Given the description of an element on the screen output the (x, y) to click on. 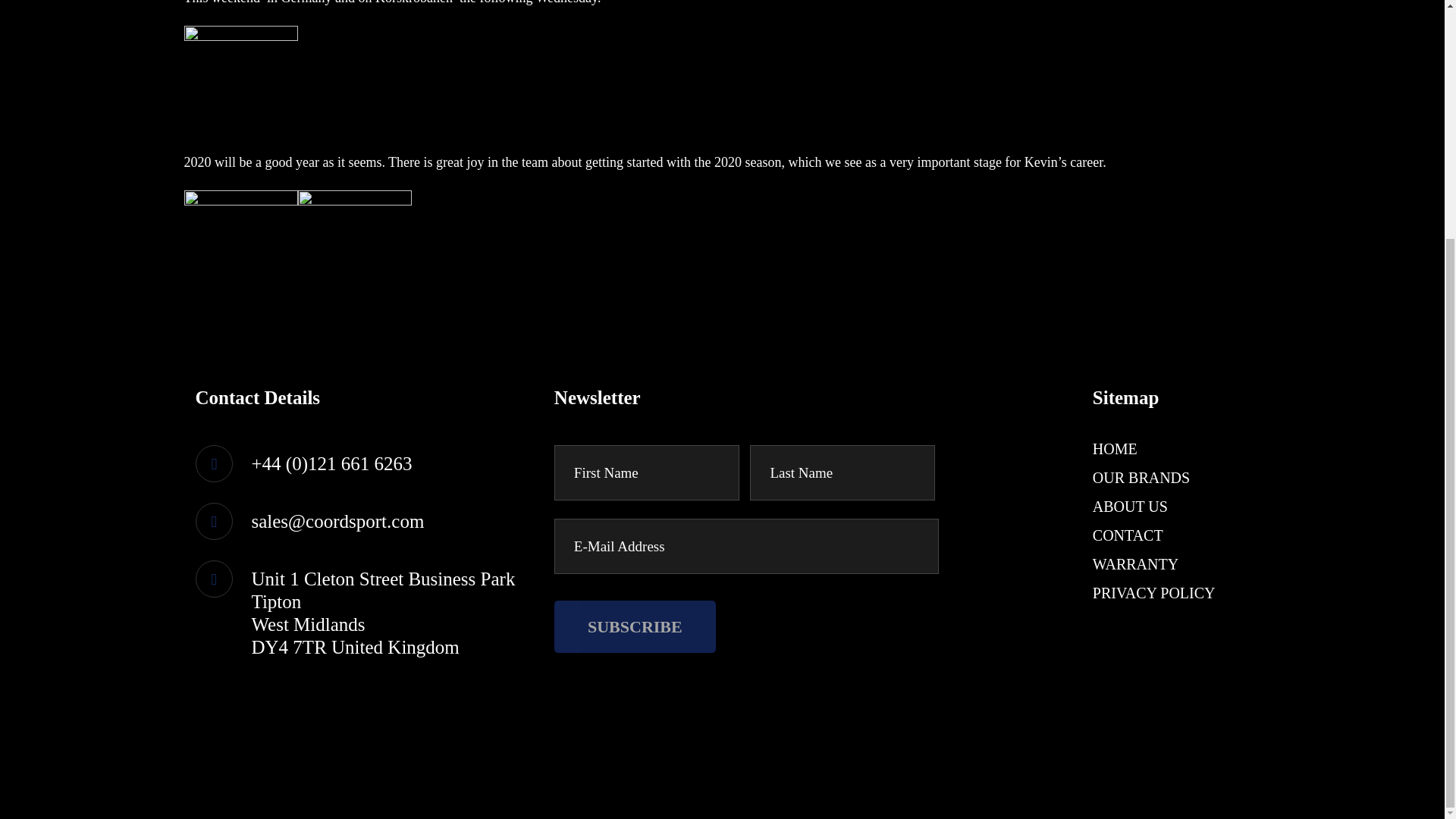
HOME (1115, 449)
SUBSCRIBE (635, 626)
WARRANTY (1135, 564)
OUR BRANDS (1141, 477)
PRIVACY POLICY (1154, 593)
ABOUT US (1130, 506)
CONTACT (1128, 535)
